Given the description of an element on the screen output the (x, y) to click on. 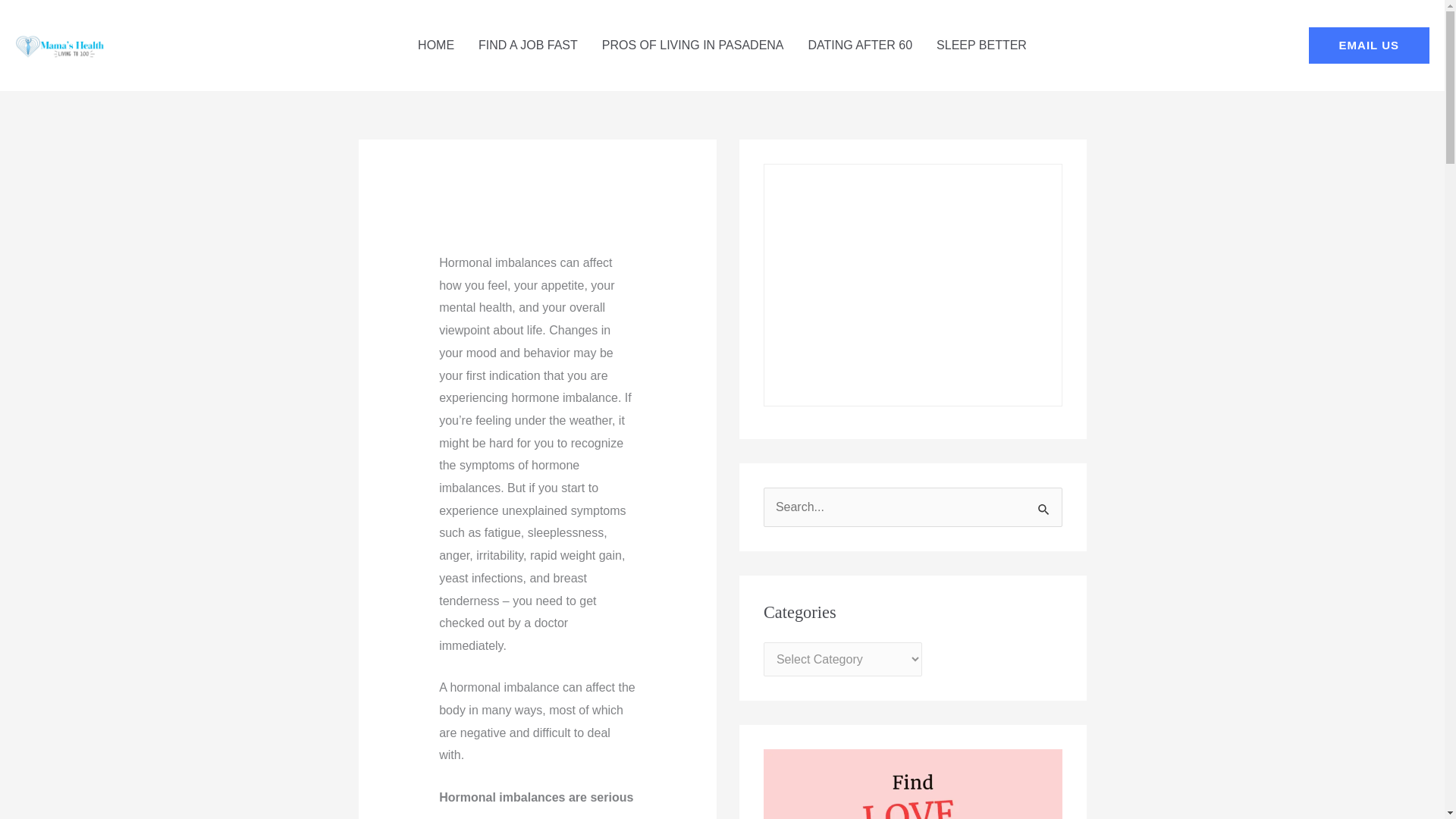
DATING AFTER 60 (860, 45)
EMAIL US (1368, 45)
FIND A JOB FAST (527, 45)
PROS OF LIVING IN PASADENA (692, 45)
SLEEP BETTER (981, 45)
